Given the description of an element on the screen output the (x, y) to click on. 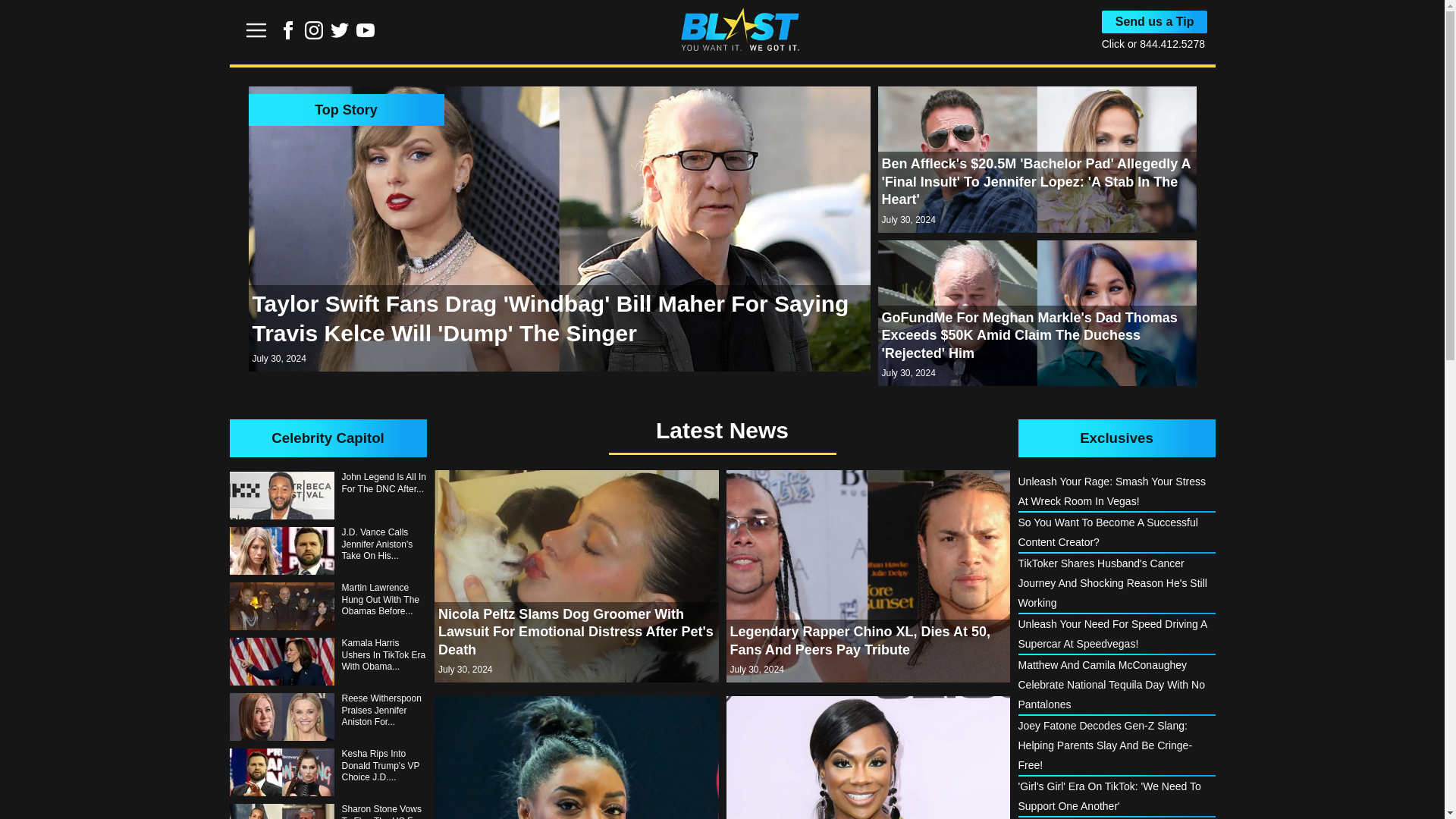
Send us a Tip (1155, 21)
Kamala Harris Ushers In TikTok Era With Obama... (327, 661)
Link to Instagram (313, 34)
Link to Instagram (313, 30)
Martin Lawrence Hung Out With The Obamas Before... (327, 605)
Kesha Rips Into Donald Trump's VP Choice J.D.... (327, 772)
Click or 844.412.5278 (1153, 43)
Link to Twitter (339, 30)
J.D. Vance Calls Jennifer Aniston's Take On His... (327, 550)
Link to Twitter (339, 34)
Link to Facebook (288, 30)
John Legend Is All In For The DNC After... (327, 495)
Sharon Stone Vows To Flee The US For Italy If... (327, 811)
Link to Facebook (288, 34)
Link to Youtube (365, 34)
